Given the description of an element on the screen output the (x, y) to click on. 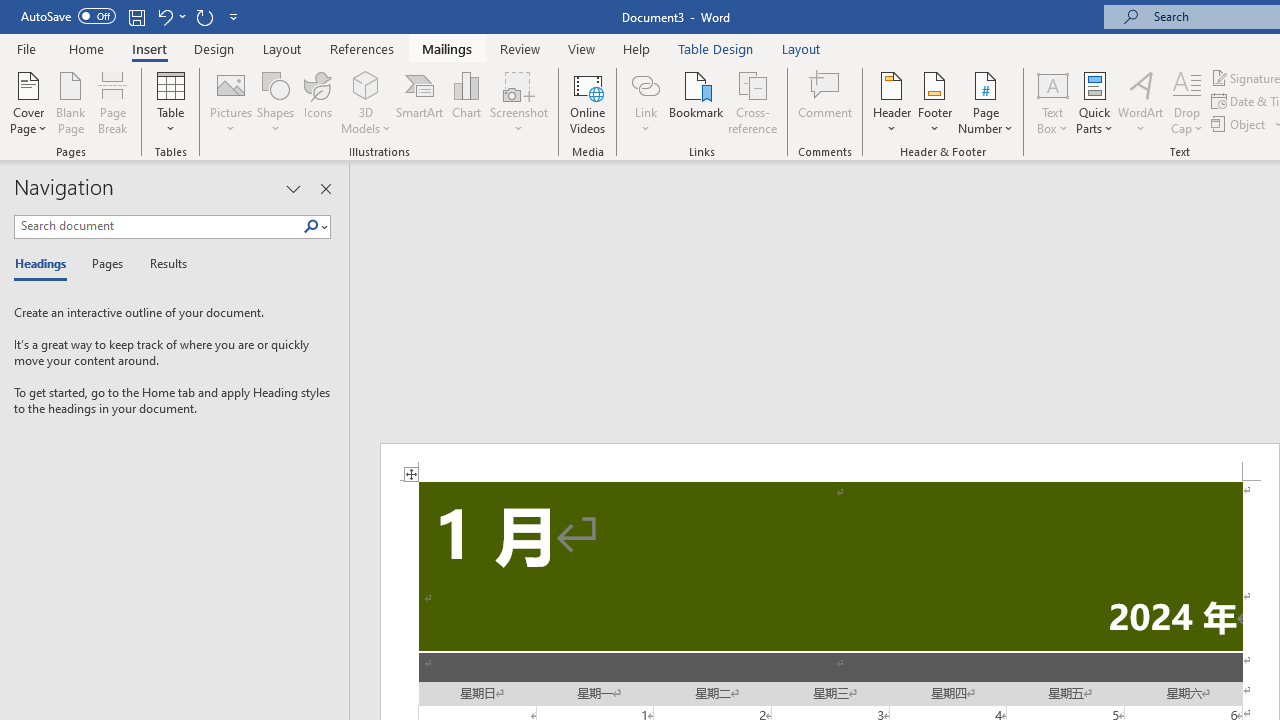
Cover Page (28, 102)
Header (891, 102)
WordArt (1141, 102)
Pictures (230, 102)
Table (170, 102)
Comment (825, 102)
3D Models (366, 84)
Icons (317, 102)
